Given the description of an element on the screen output the (x, y) to click on. 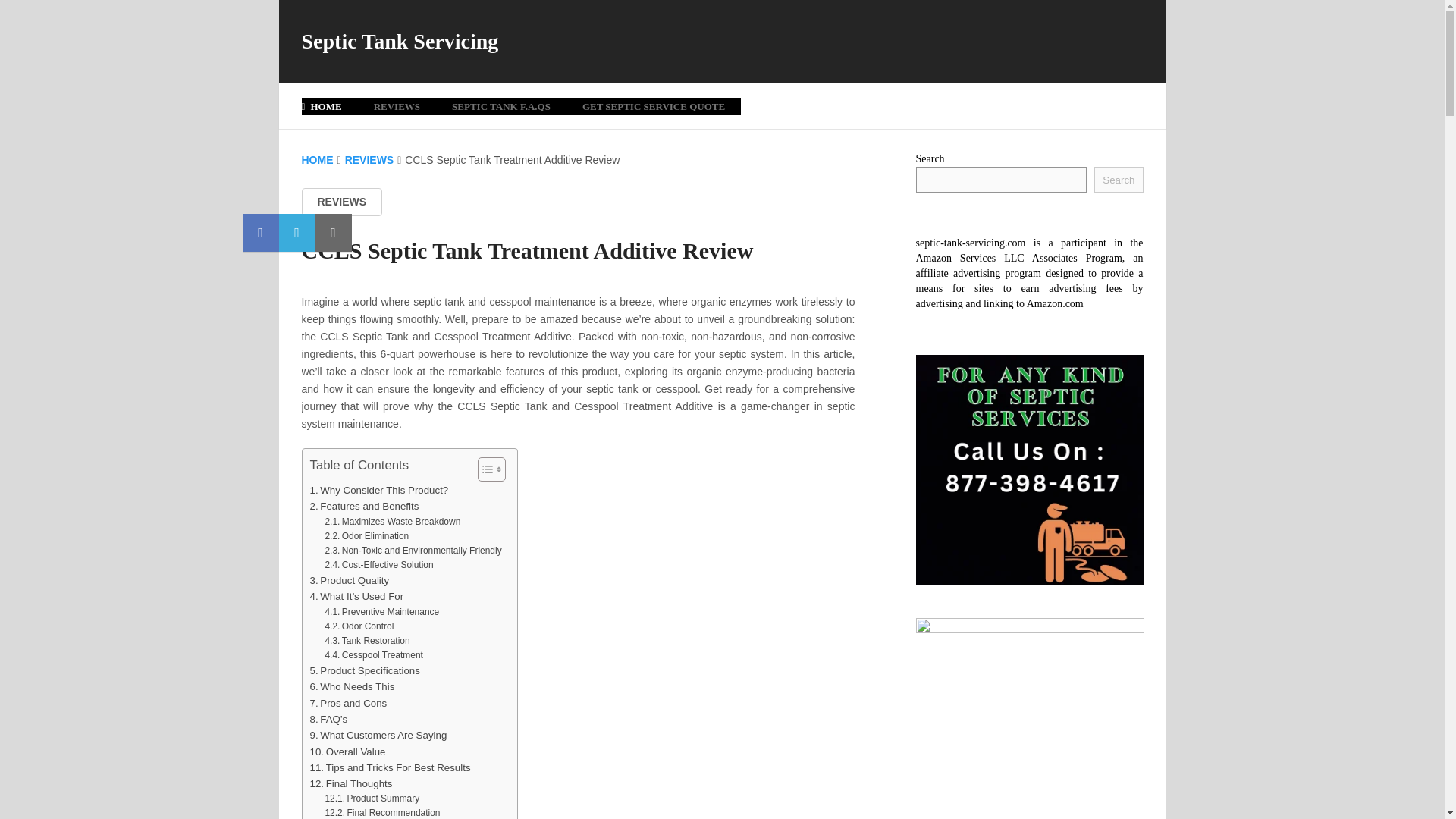
Preventive Maintenance (381, 612)
Product Specifications (363, 670)
Preventive Maintenance (381, 612)
Maximizes Waste Breakdown (392, 522)
Non-Toxic and Environmentally Friendly (412, 550)
Cesspool Treatment (373, 655)
REVIEWS (396, 105)
View all posts in Reviews (341, 202)
Product Specifications (363, 670)
GET SEPTIC SERVICE QUOTE (653, 105)
Cesspool Treatment (373, 655)
Why Consider This Product? (378, 489)
Cost-Effective Solution (378, 564)
Product Summary (371, 798)
Maximizes Waste Breakdown (392, 522)
